Given the description of an element on the screen output the (x, y) to click on. 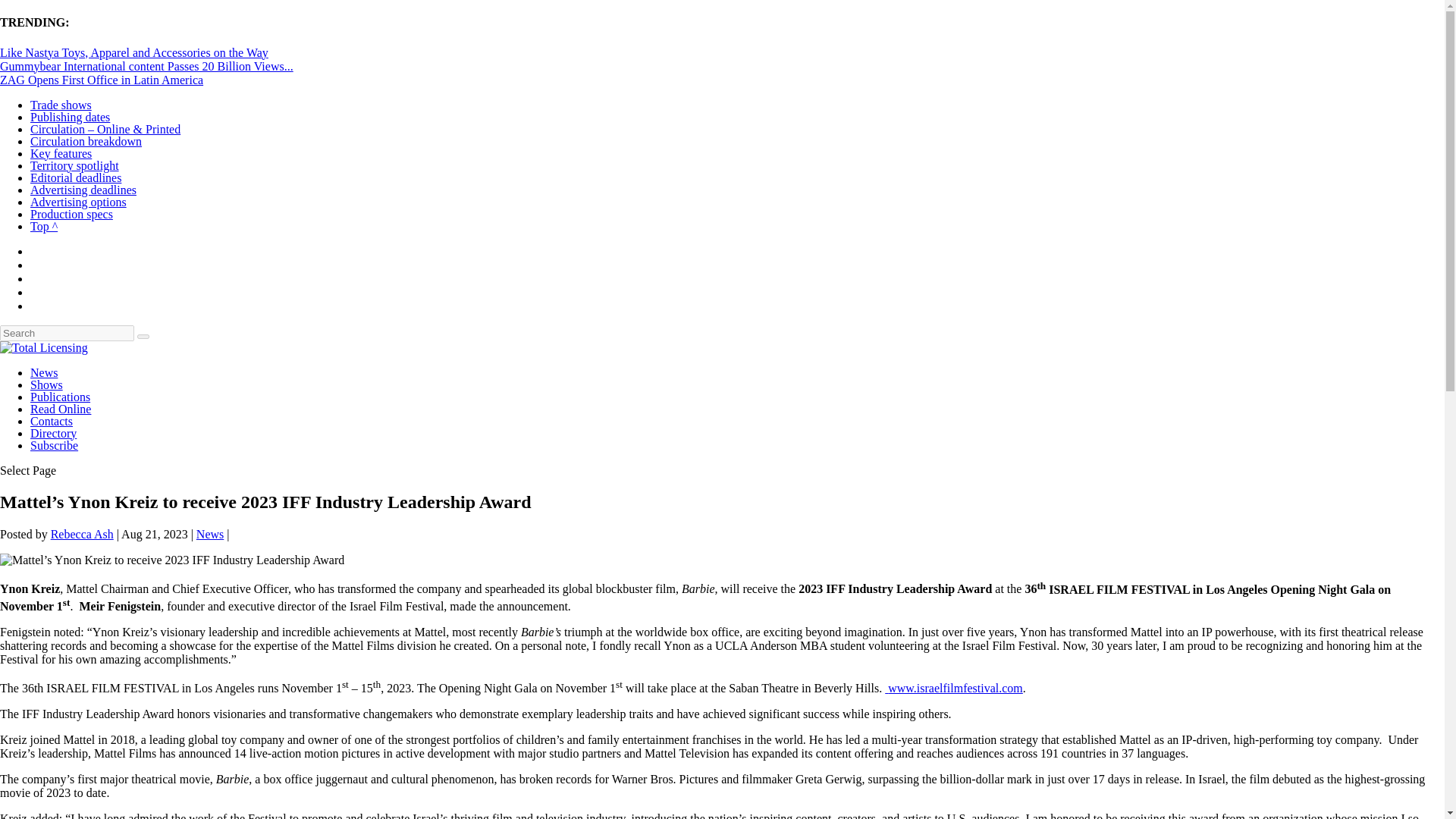
Production specs (71, 214)
Gummybear International content Passes 20 Billion Views... (147, 65)
Publishing dates (70, 116)
Editorial deadlines (75, 177)
News (44, 372)
Advertising options (78, 201)
Search for: (66, 333)
Shows (46, 384)
Advertising deadlines (83, 189)
Territory spotlight (74, 164)
